Given the description of an element on the screen output the (x, y) to click on. 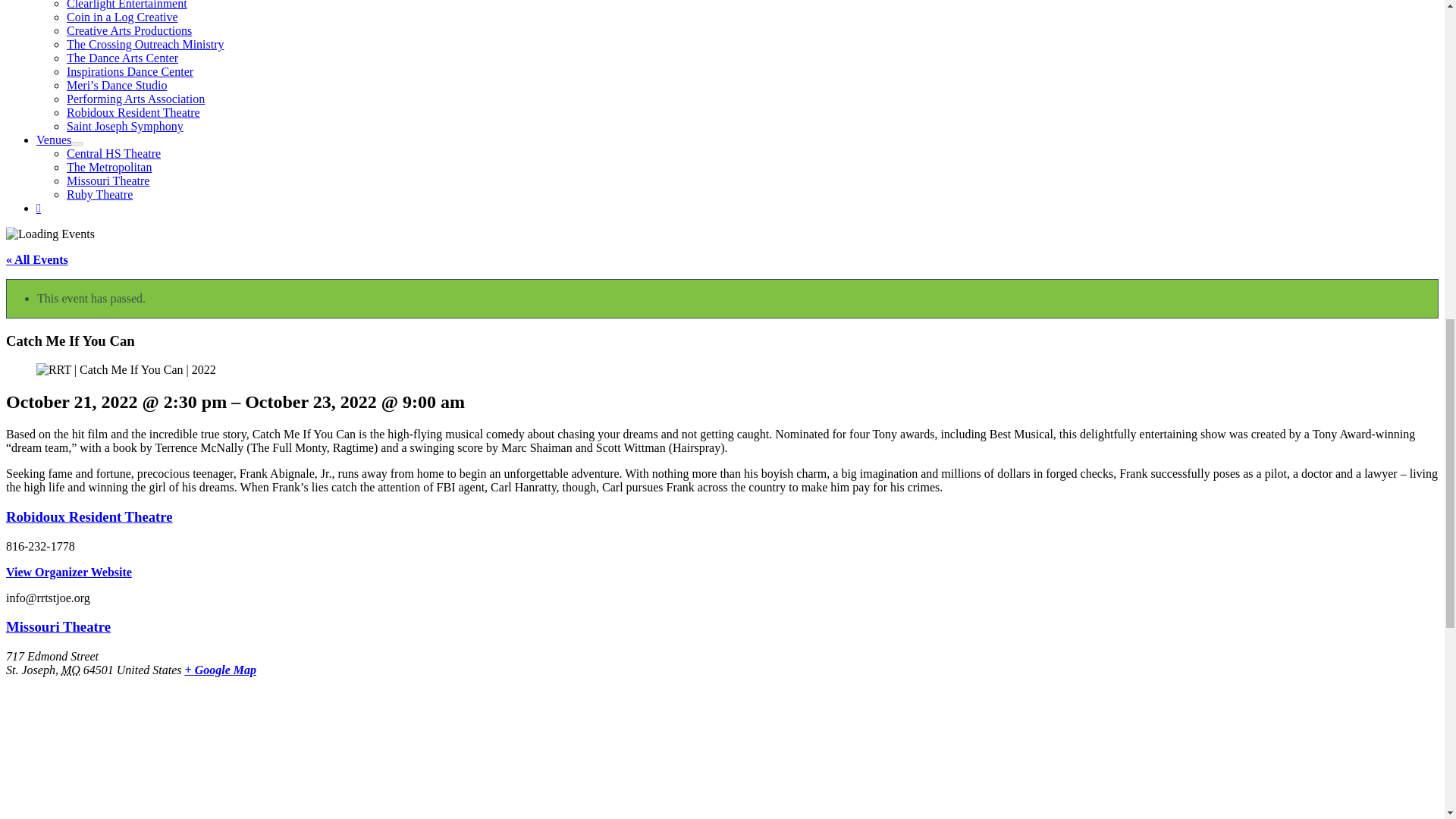
Missouri (70, 669)
Click to view a Google Map (220, 669)
Robidoux Resident Theatre (89, 516)
Missouri Theatre (57, 626)
